Given the description of an element on the screen output the (x, y) to click on. 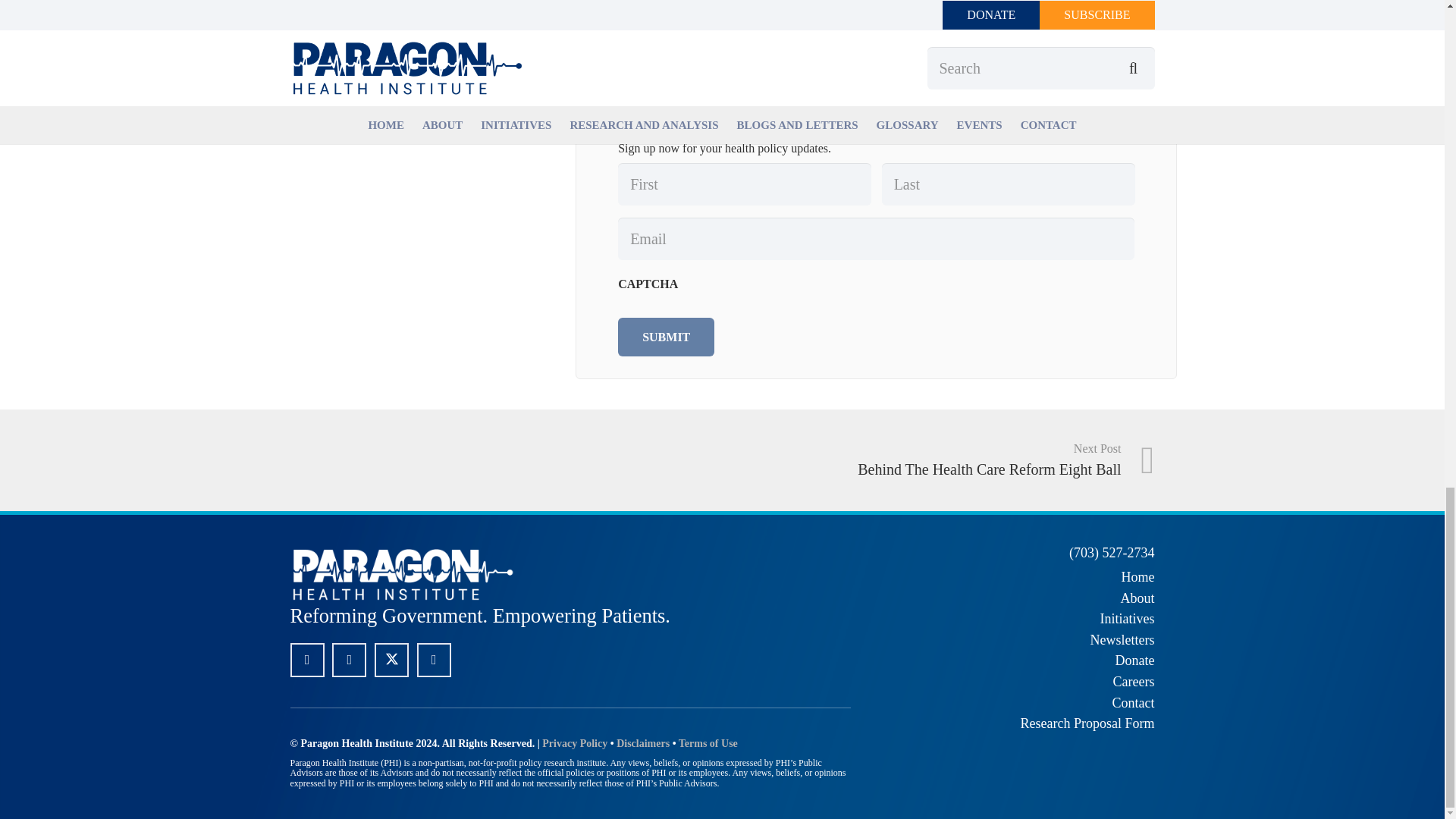
Facebook (306, 659)
YouTube (433, 659)
Submit (665, 336)
LinkedIn (348, 659)
Twitter (391, 659)
Behind The Health Care Reform Eight Ball (938, 459)
